Given the description of an element on the screen output the (x, y) to click on. 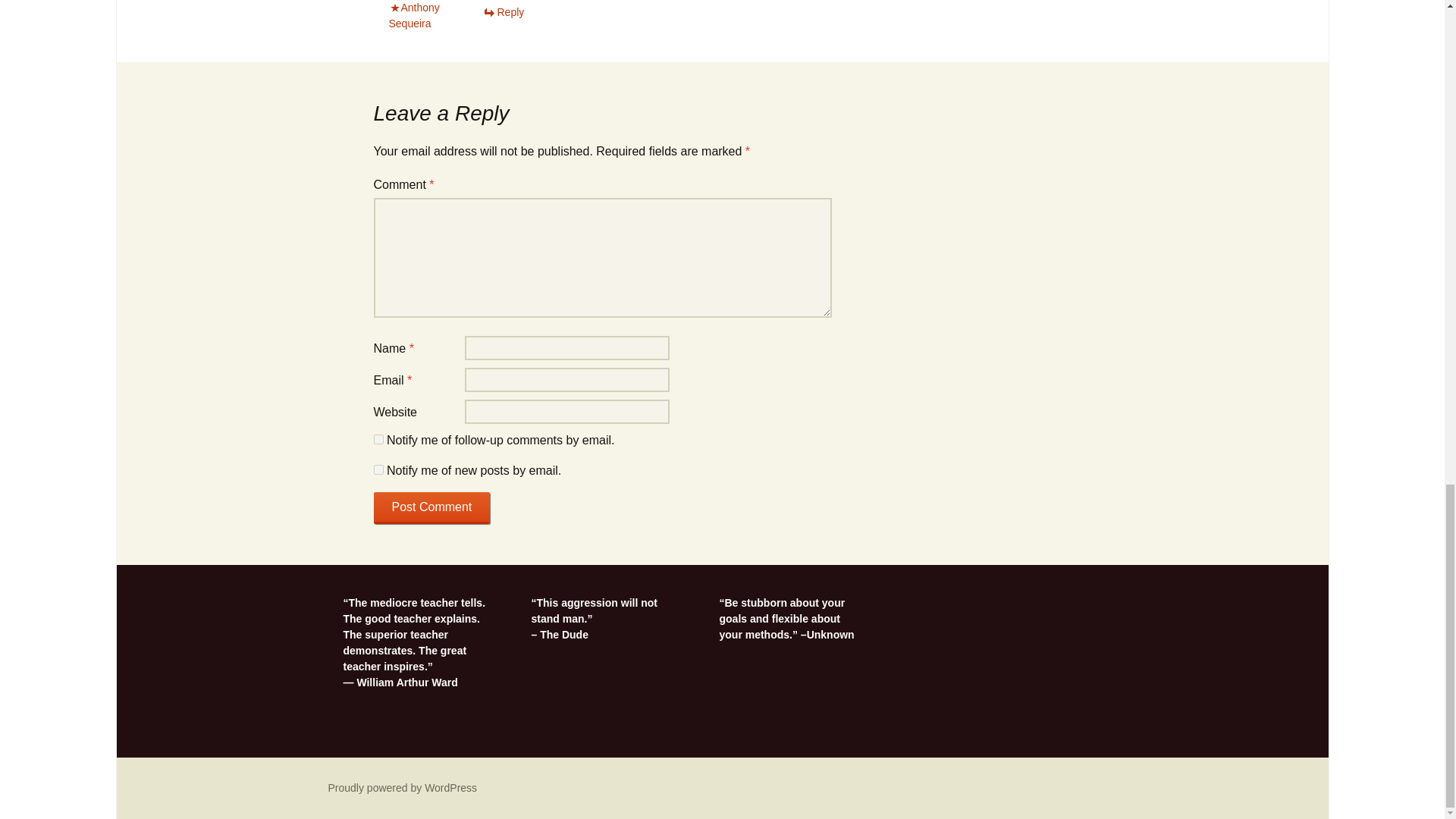
subscribe (377, 470)
subscribe (377, 439)
Reply (502, 11)
Post Comment (430, 508)
